Given the description of an element on the screen output the (x, y) to click on. 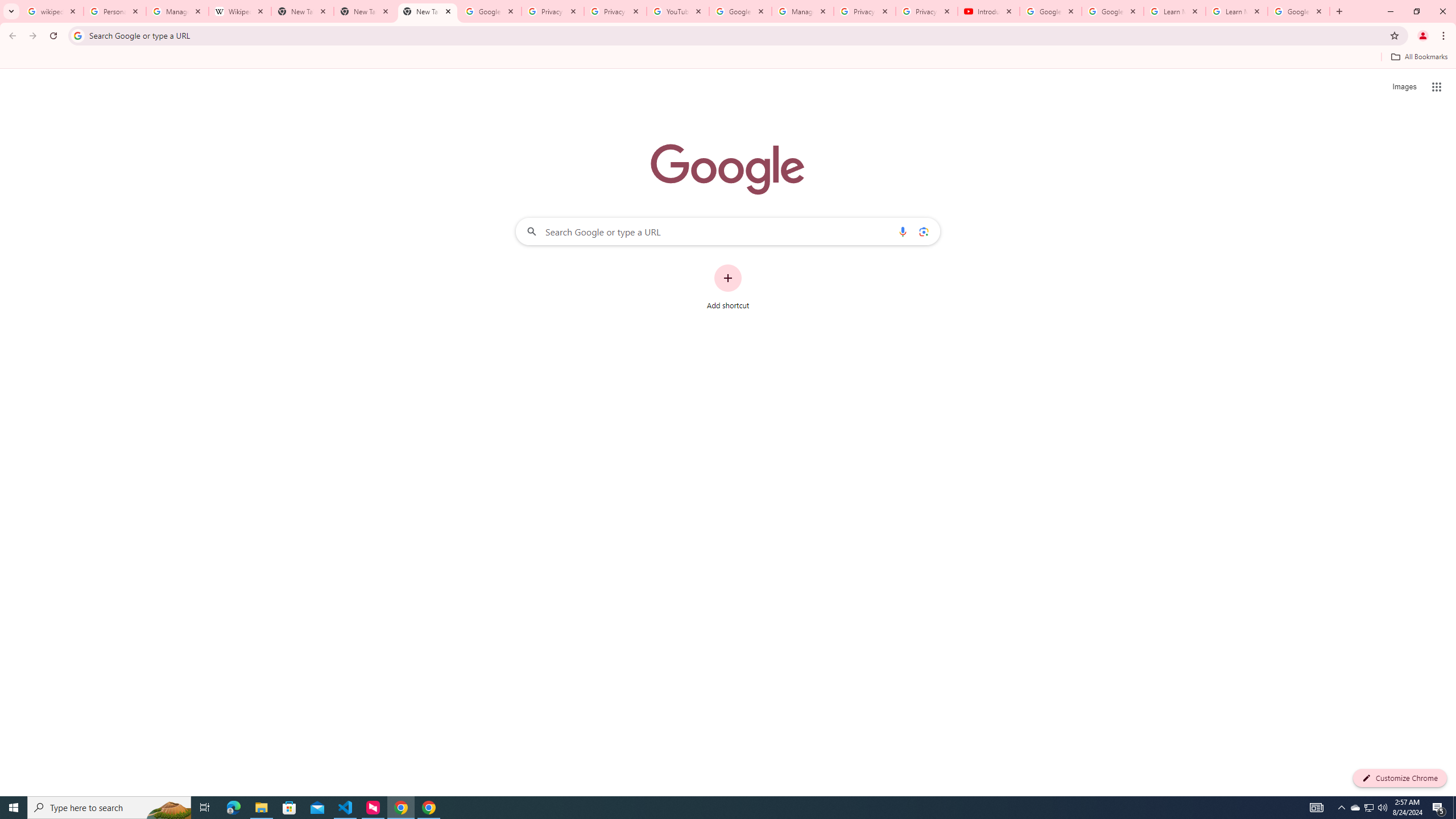
Add shortcut (727, 287)
Customize Chrome (1399, 778)
Search Google or type a URL (727, 230)
Google Account (1298, 11)
Google Account Help (1111, 11)
Google Drive: Sign-in (490, 11)
New Tab (427, 11)
